Given the description of an element on the screen output the (x, y) to click on. 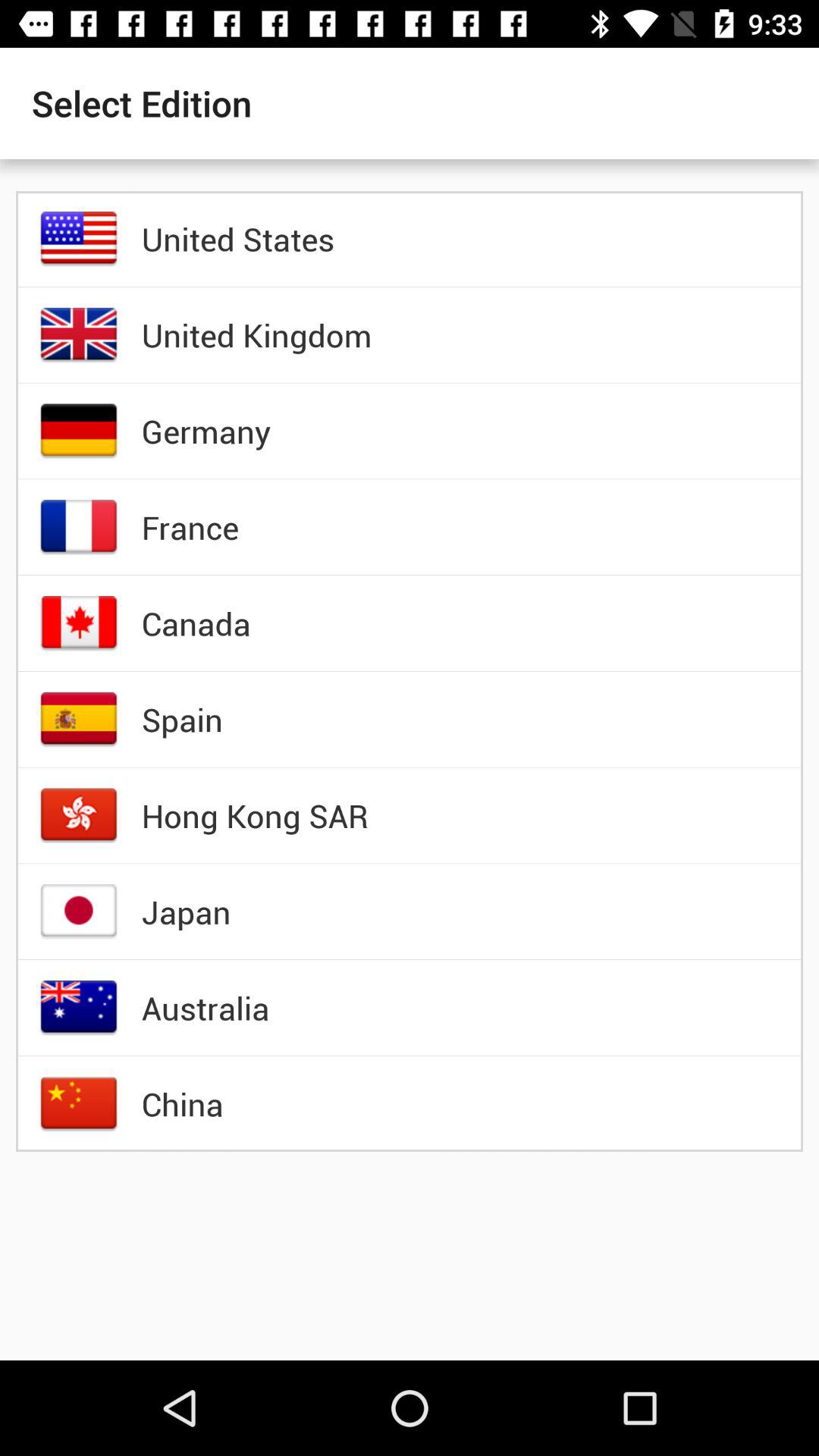
tap item below the germany (189, 527)
